Given the description of an element on the screen output the (x, y) to click on. 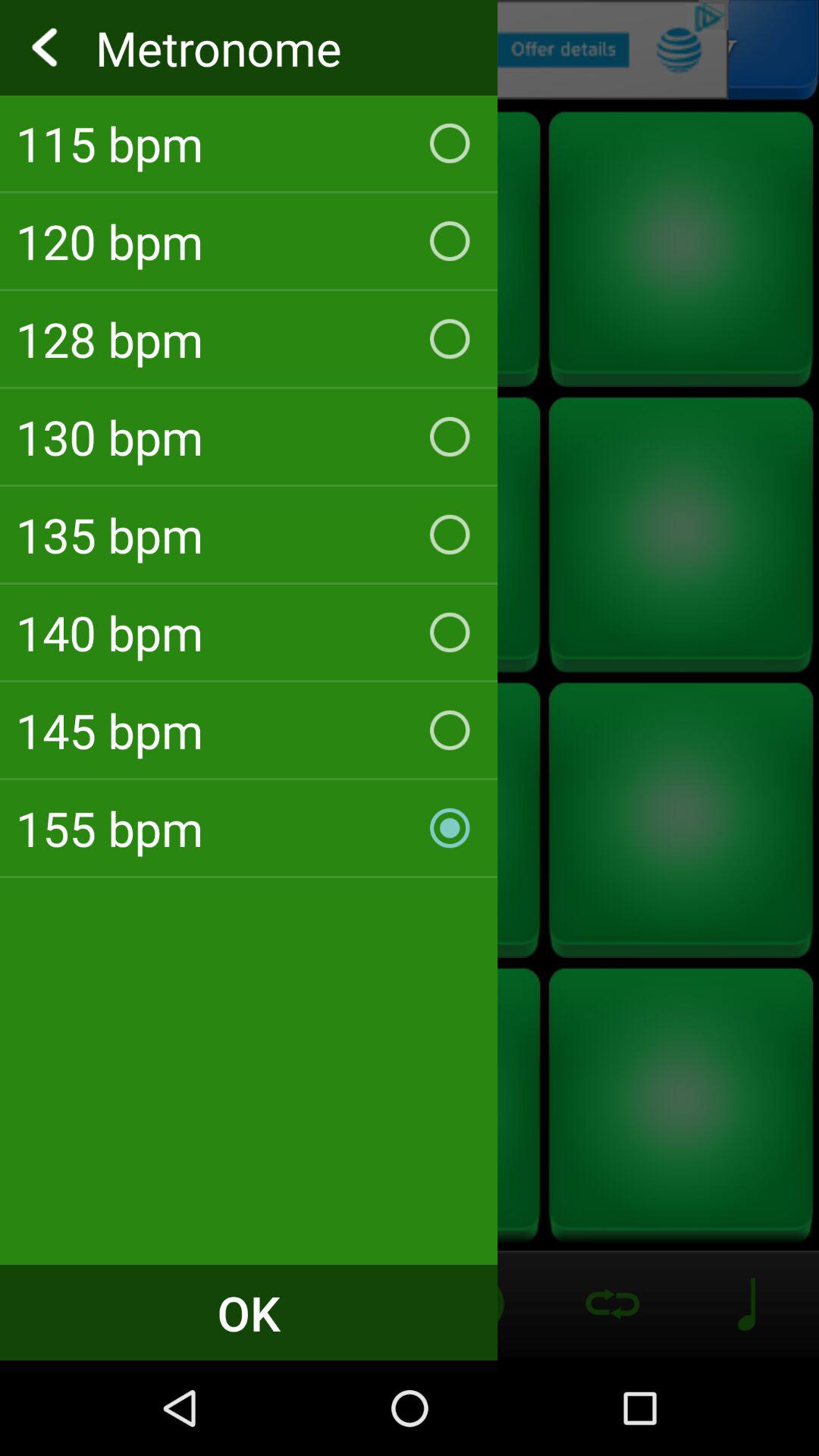
swipe until 128 bpm checkbox (248, 338)
